Given the description of an element on the screen output the (x, y) to click on. 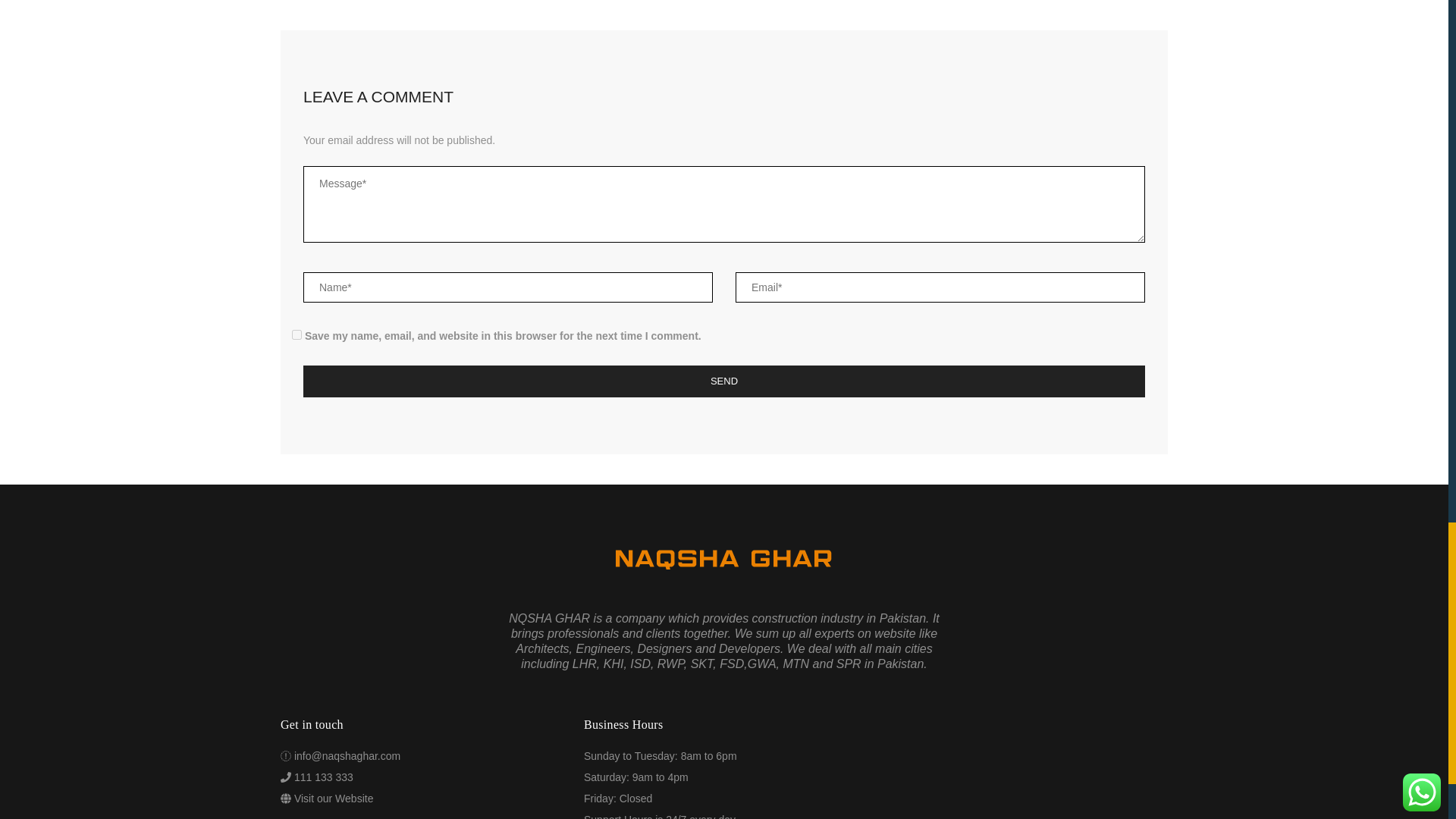
Send (723, 381)
Visit our Website (334, 798)
yes (296, 334)
Send (723, 381)
